Given the description of an element on the screen output the (x, y) to click on. 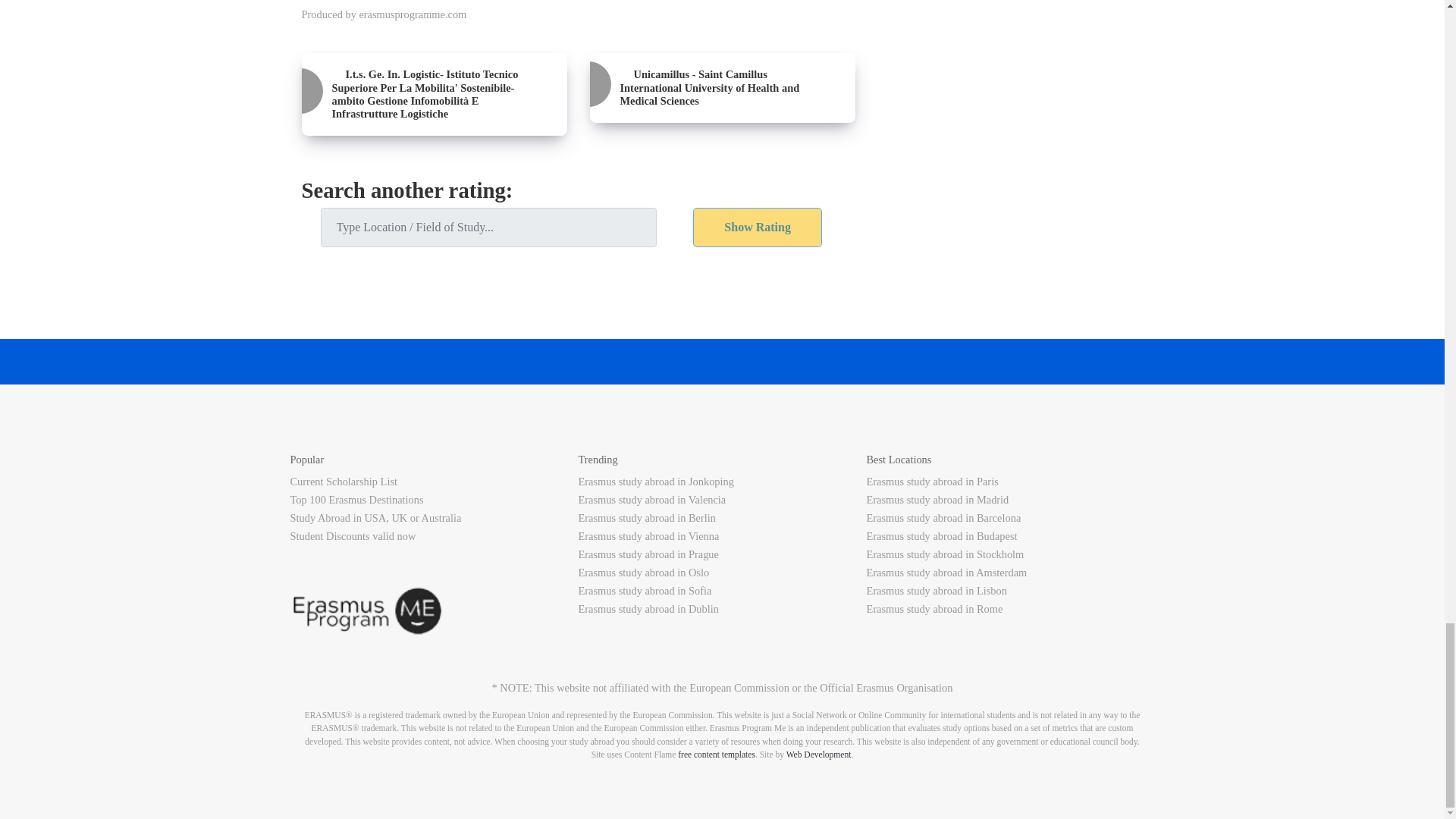
Show Rating (757, 227)
